Given the description of an element on the screen output the (x, y) to click on. 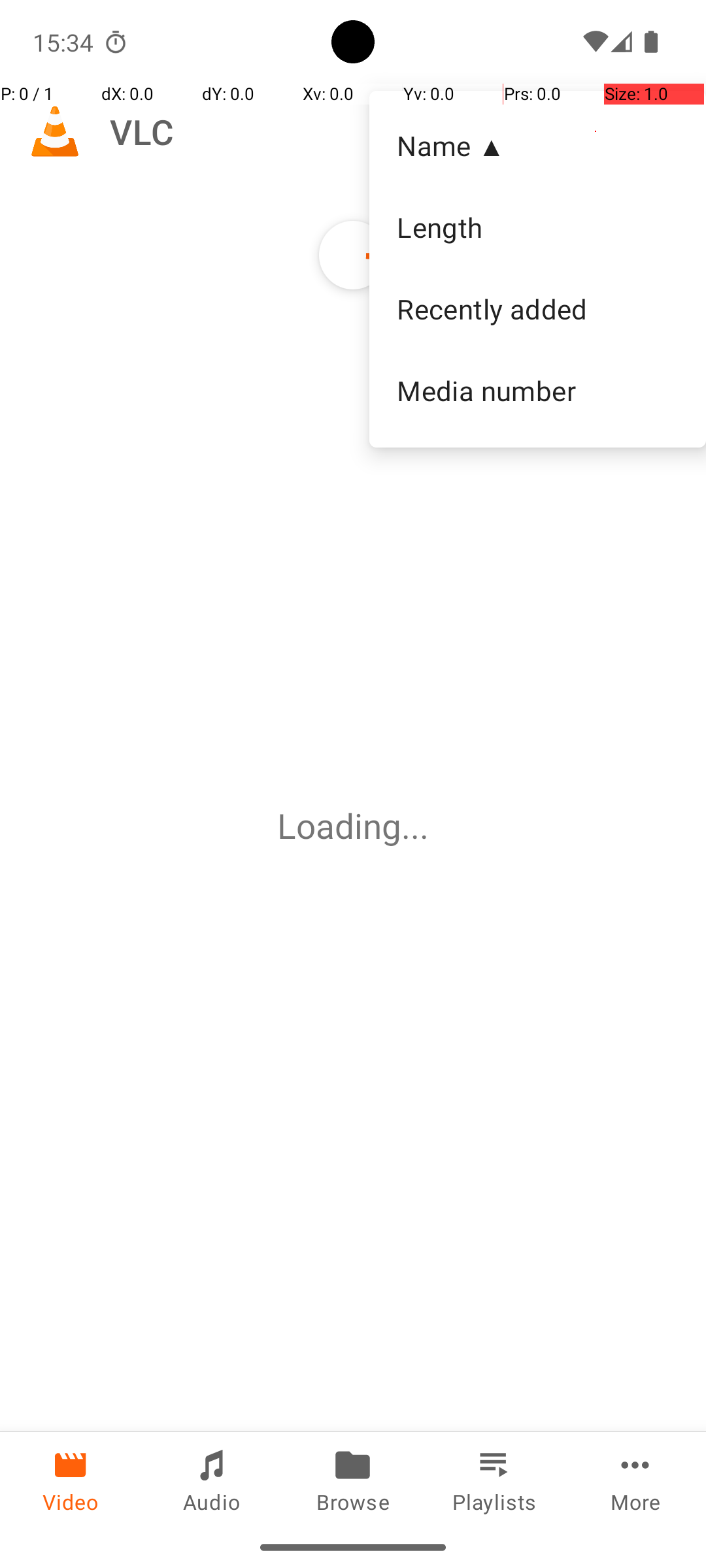
Name. Ascending Element type: android.widget.LinearLayout (537, 145)
Length Element type: android.widget.LinearLayout (537, 227)
Recently added Element type: android.widget.LinearLayout (537, 308)
Name ▲ Element type: android.widget.TextView (537, 145)
Media number Element type: android.widget.TextView (537, 389)
